Given the description of an element on the screen output the (x, y) to click on. 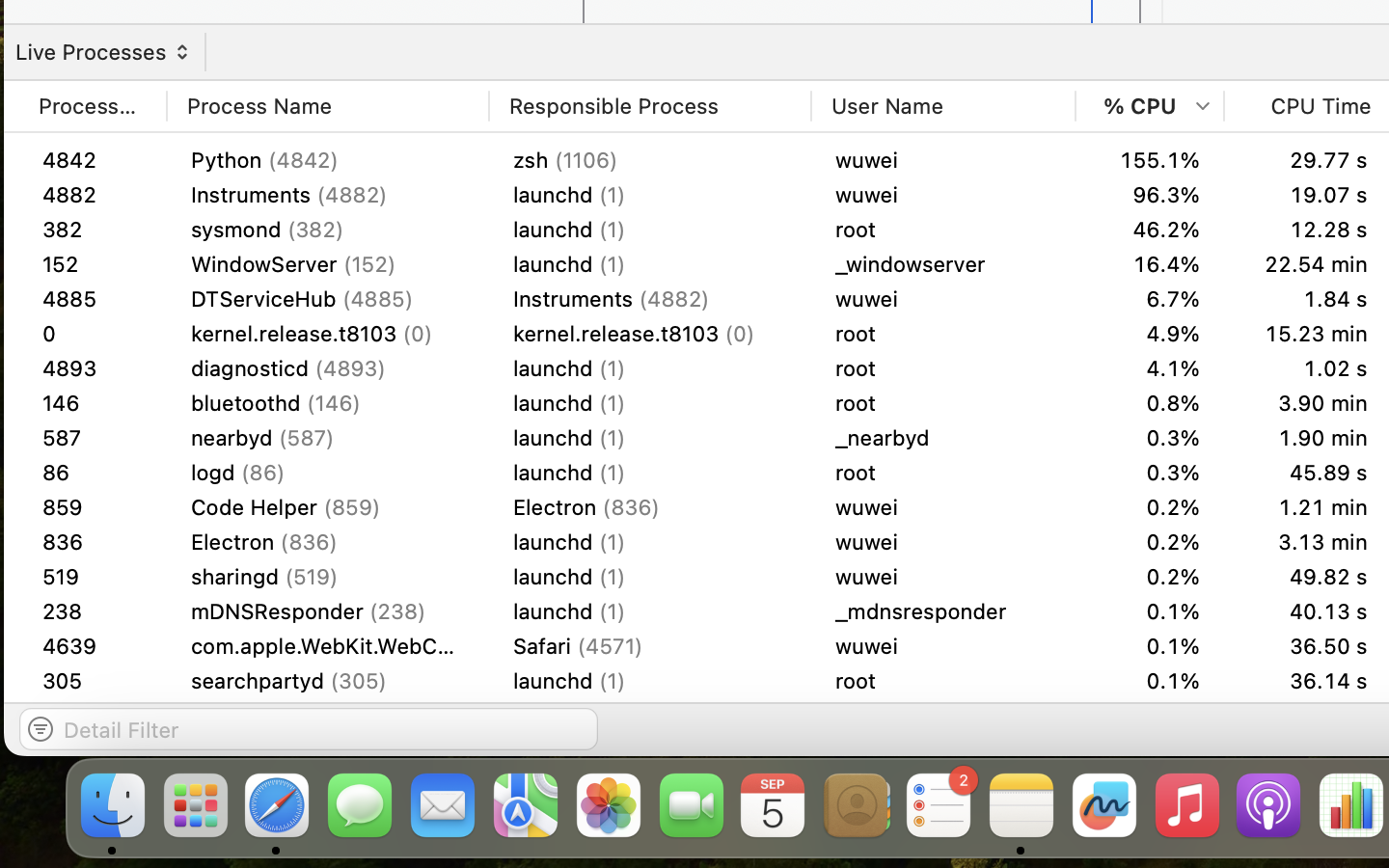
127 Element type: AXStaticText (92, 645)
22.49 min Element type: AXStaticText (1307, 159)
146 Element type: AXStaticText (92, 402)
0.6% Element type: AXStaticText (1149, 472)
166 Element type: AXStaticText (92, 576)
